Given the description of an element on the screen output the (x, y) to click on. 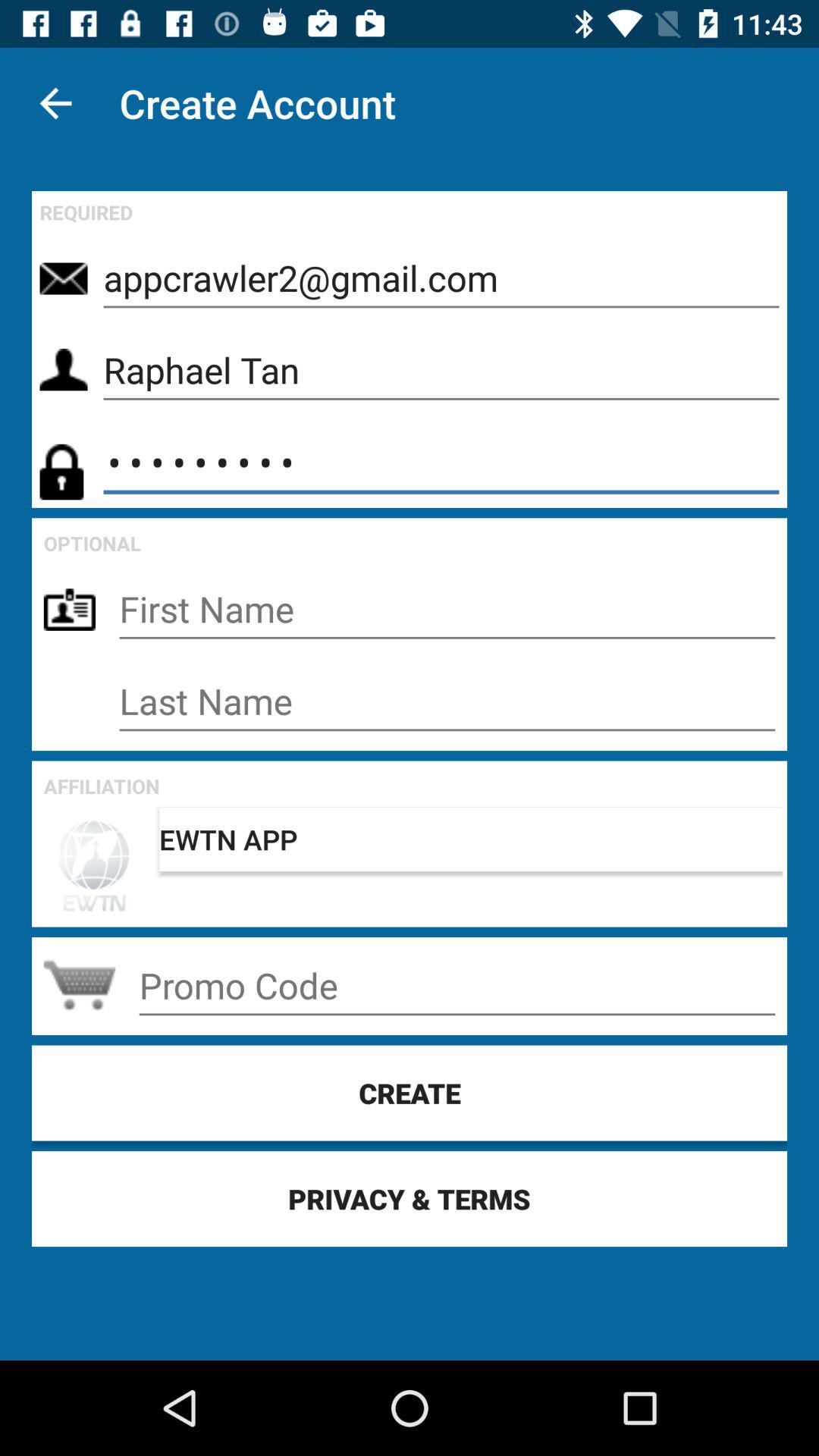
enter last name (447, 701)
